Given the description of an element on the screen output the (x, y) to click on. 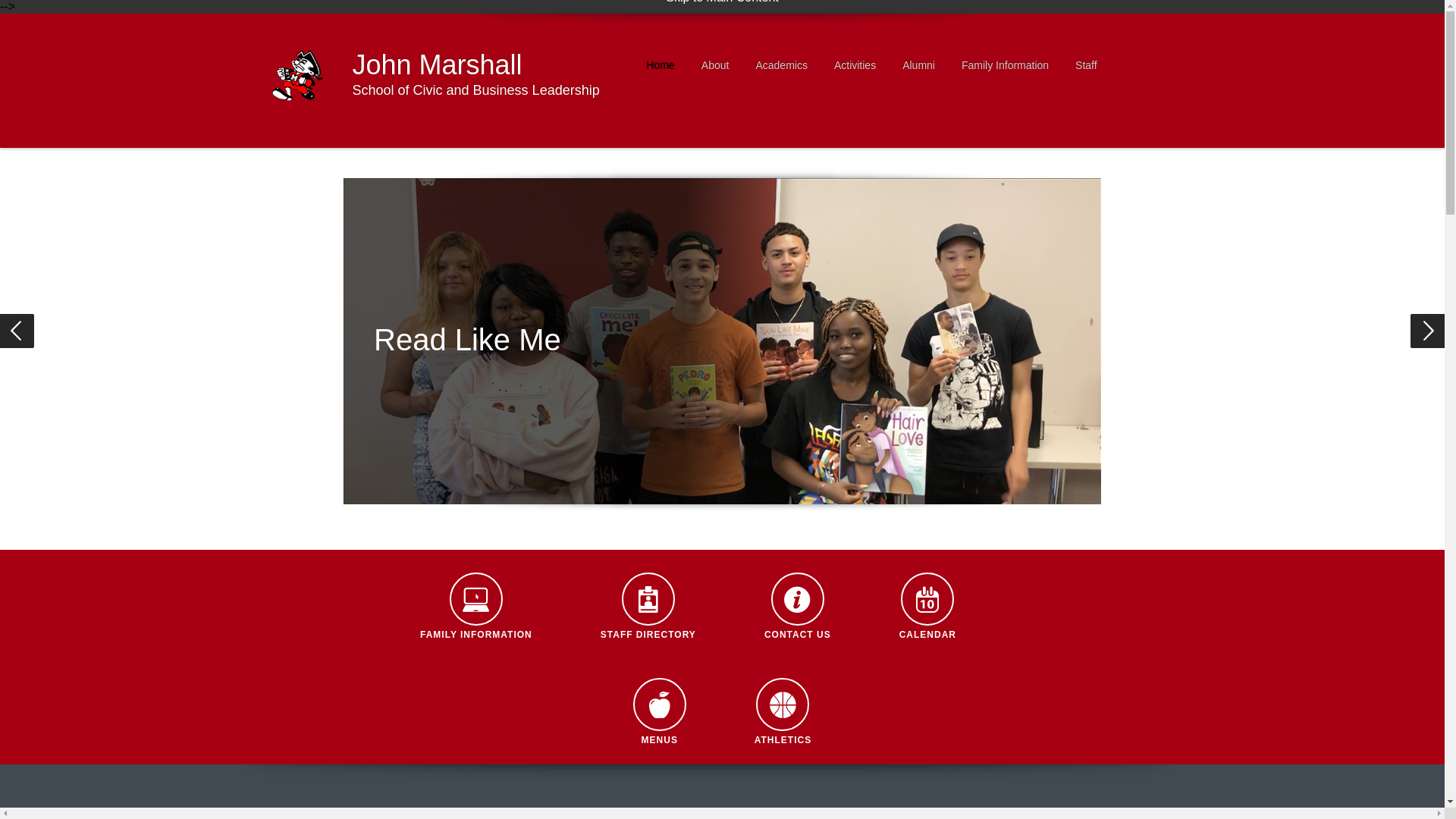
About (715, 66)
FAMILY INFORMATION (476, 606)
Activities (854, 66)
Family Information (1004, 66)
Alumni (918, 66)
MENUS (659, 711)
Academics (781, 66)
Skip to Main Content (721, 2)
CONTACT US (797, 606)
Staff (1086, 66)
Home (659, 66)
CALENDAR (927, 606)
STAFF DIRECTORY (647, 606)
